Given the description of an element on the screen output the (x, y) to click on. 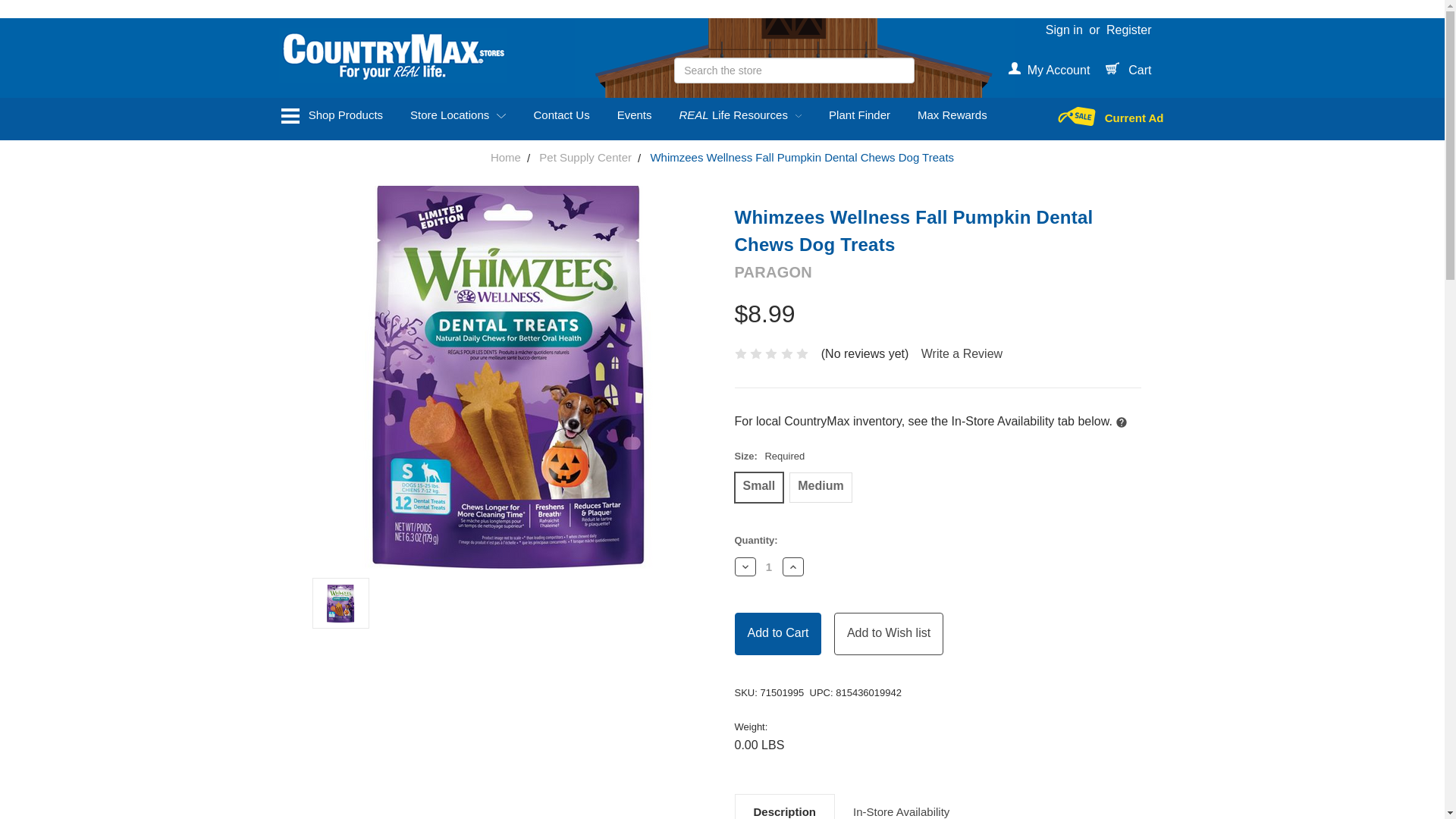
Sign in (1064, 30)
Register (1128, 30)
Add to Wish list (888, 633)
Add to Cart (777, 633)
1 (768, 566)
Cart (1128, 69)
Shop Products (331, 115)
Whimzees Wellness Fall Pumpkin Dental Chews Dog Treats (340, 602)
My Account (1048, 69)
